Given the description of an element on the screen output the (x, y) to click on. 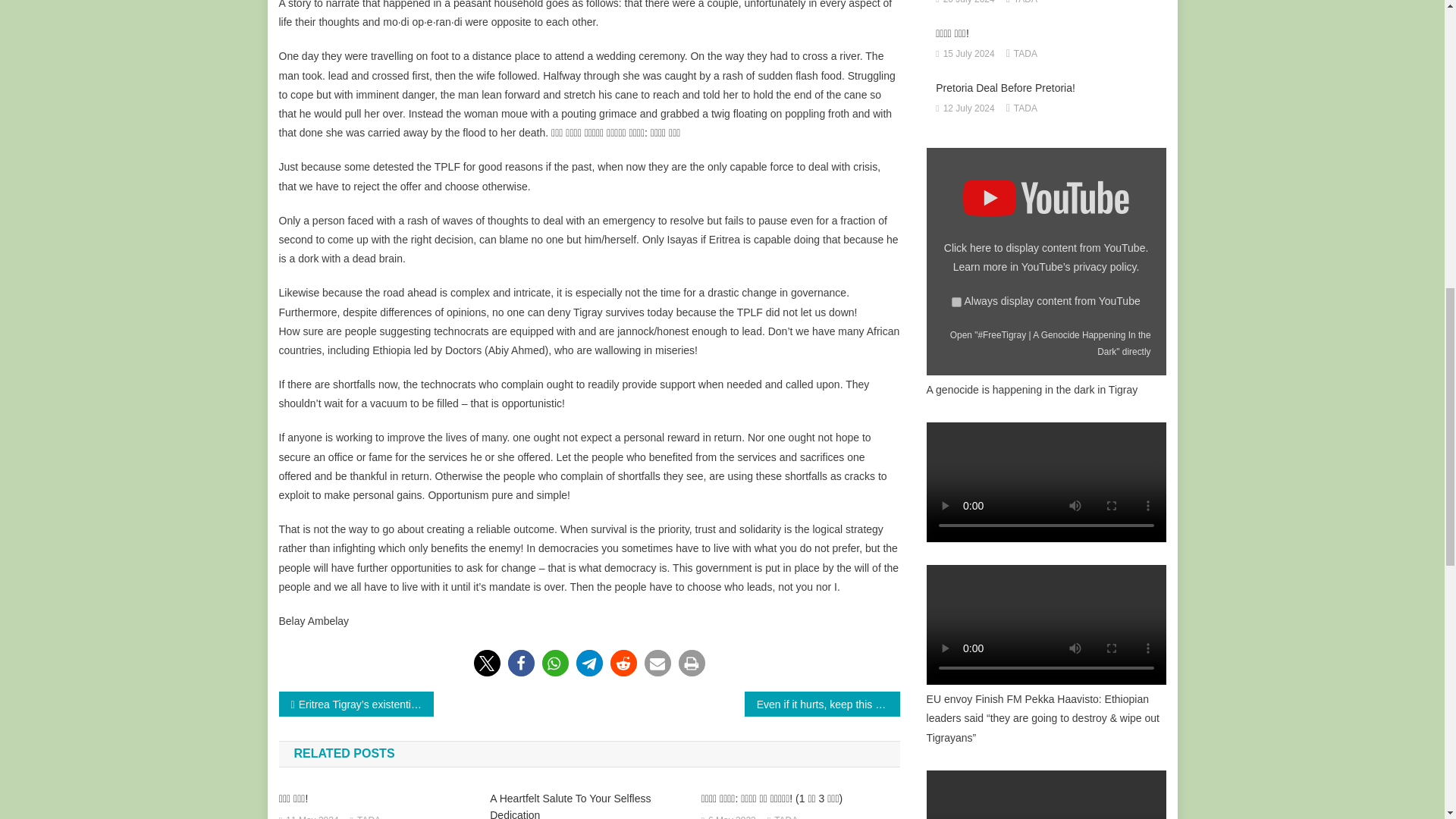
Share on X (486, 663)
11 May 2024 (311, 816)
A Heartfelt Salute To Your Selfless Dedication (588, 804)
Send by email (658, 663)
Share on Whatsapp (554, 663)
Share on Facebook (521, 663)
Even if it hurts, keep this thing deep in your heart! (821, 703)
Share on Telegram (589, 663)
TADA (368, 816)
print (691, 663)
1 (956, 302)
Share on Reddit (623, 663)
